Given the description of an element on the screen output the (x, y) to click on. 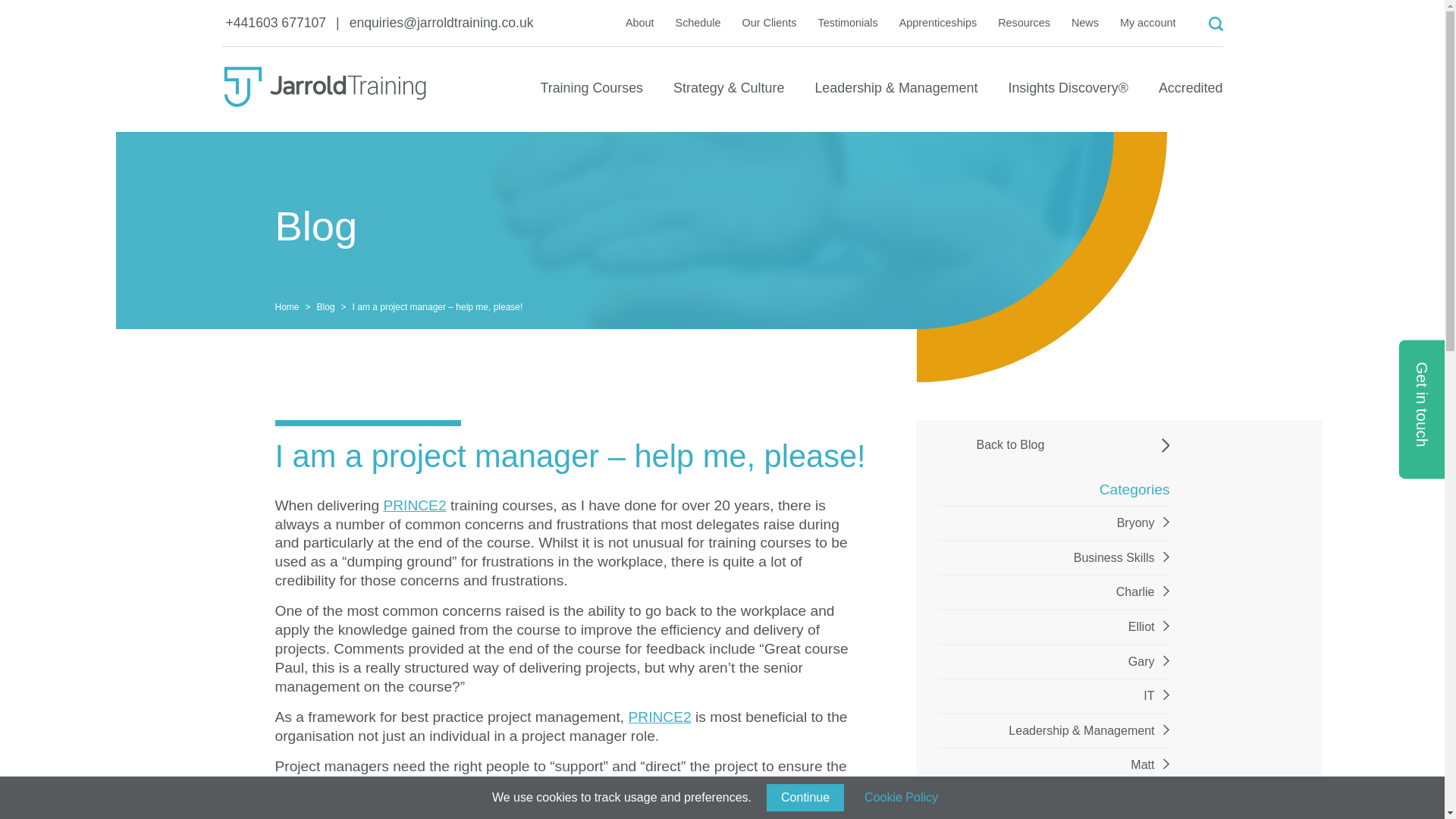
News (1085, 22)
Cookie Policy (901, 797)
About (639, 22)
Our Clients (769, 22)
Schedule (697, 22)
Testimonials (847, 22)
Apprenticeships (937, 22)
Continue (805, 797)
Resources (1023, 22)
My account (1147, 22)
Training Courses (591, 94)
Accredited (1190, 94)
